Given the description of an element on the screen output the (x, y) to click on. 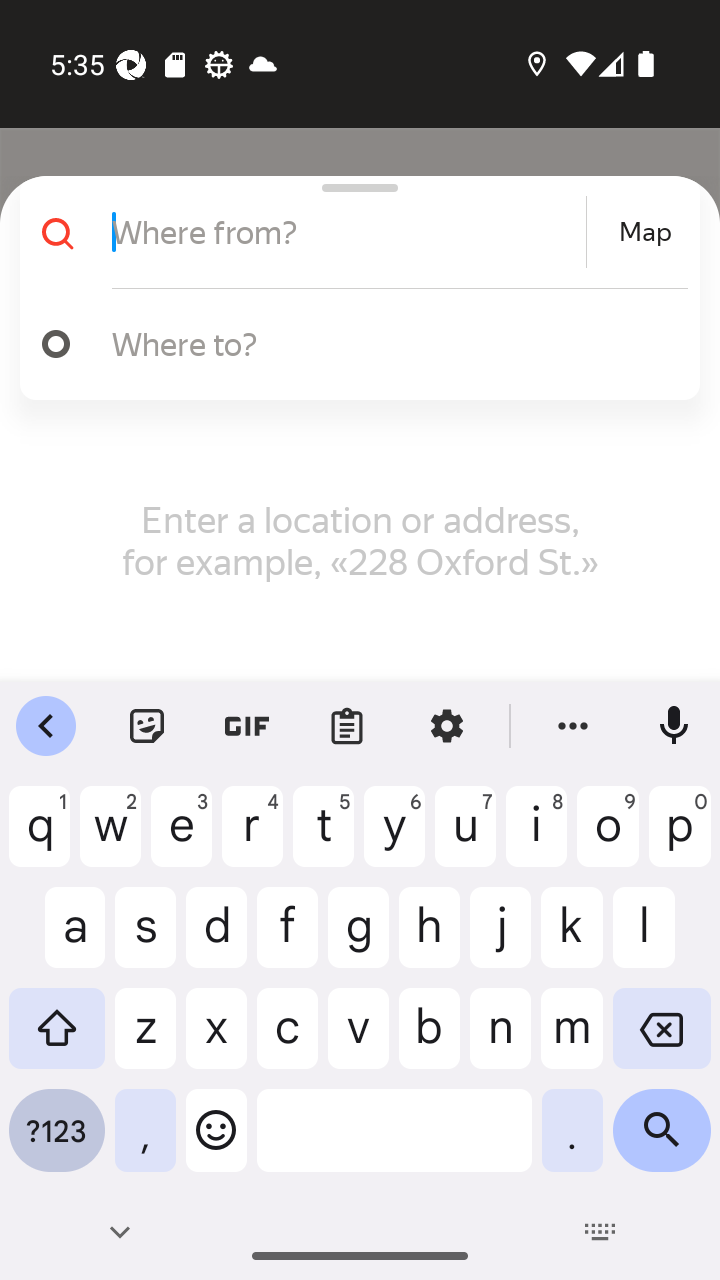
Where from? Map Map (352, 232)
Map (645, 232)
Where from? (346, 232)
Where to? (352, 343)
Where to? (390, 343)
